Given the description of an element on the screen output the (x, y) to click on. 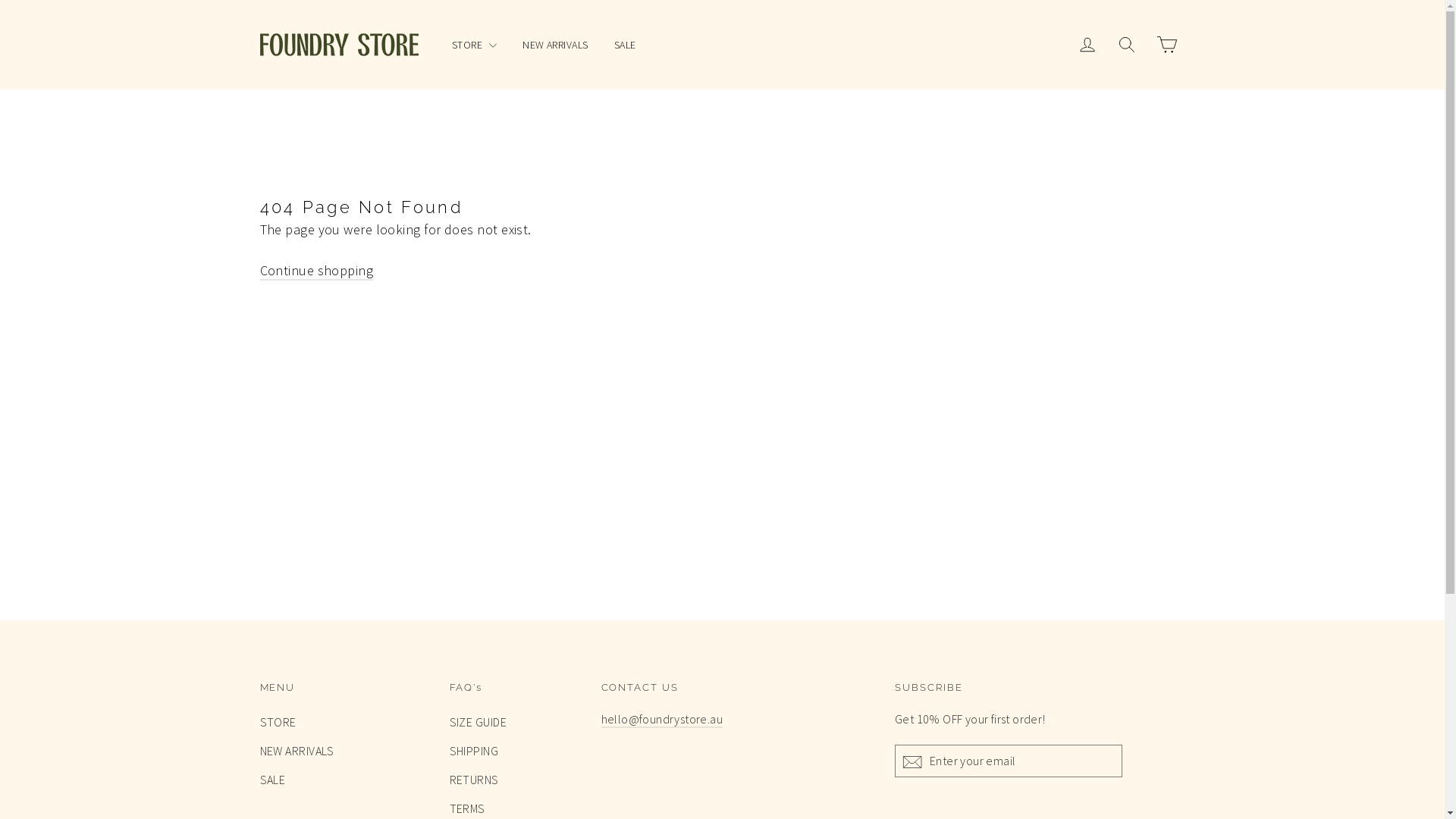
SALE Element type: text (342, 780)
STORE Element type: text (474, 44)
Skip to content Element type: text (0, 0)
SHIPPING Element type: text (512, 751)
SIZE GUIDE Element type: text (512, 722)
SALE Element type: text (624, 44)
NEW ARRIVALS Element type: text (342, 751)
STORE Element type: text (342, 722)
Continue shopping Element type: text (316, 270)
RETURNS Element type: text (512, 780)
hello@foundrystore.au Element type: text (660, 719)
NEW ARRIVALS Element type: text (555, 44)
